Given the description of an element on the screen output the (x, y) to click on. 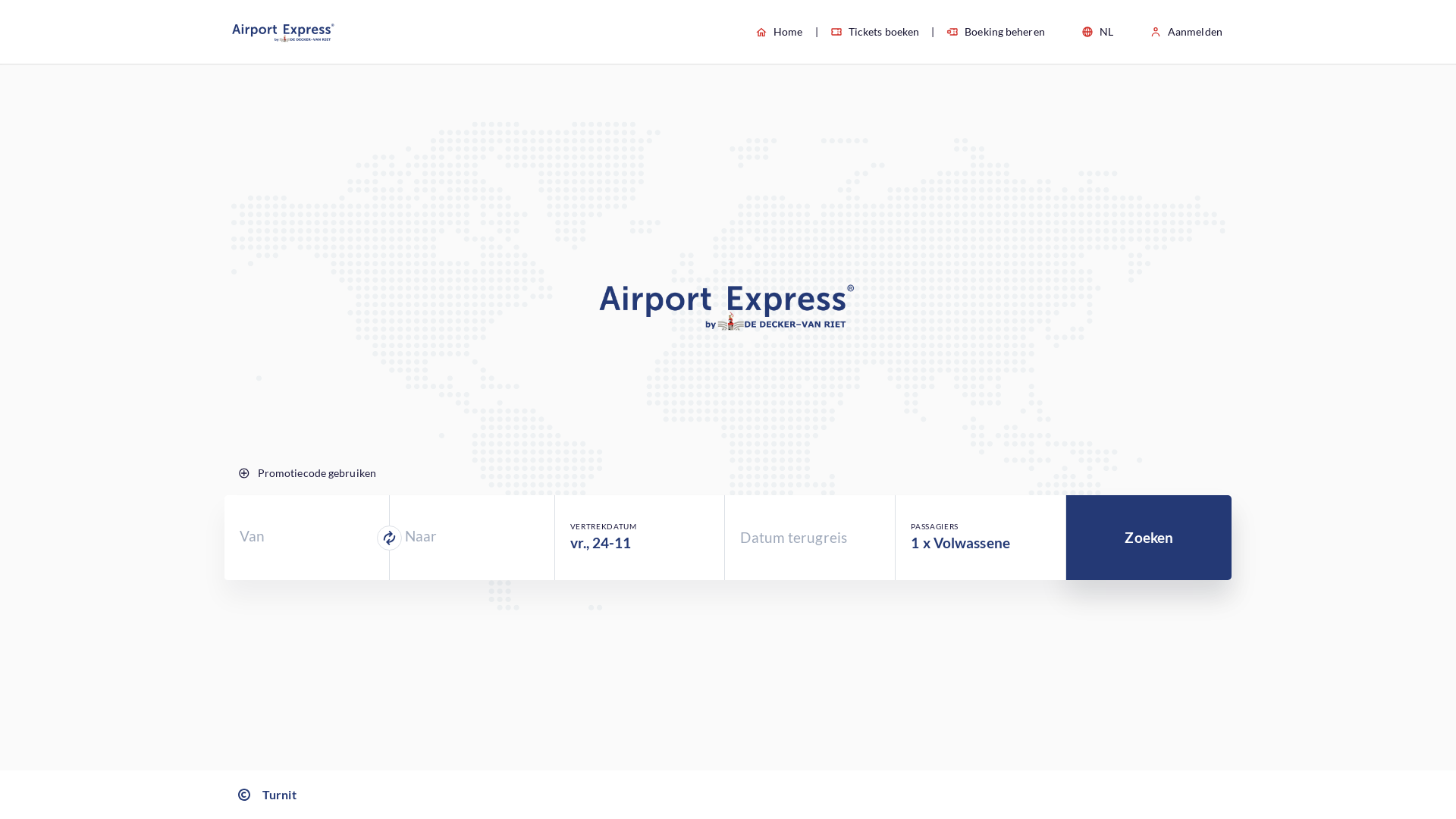
Turnit Element type: text (265, 794)
Home Element type: text (778, 31)
Boeking beheren Element type: text (981, 31)
Tickets boeken Element type: text (861, 31)
Aanmelden Element type: text (1185, 31)
